Given the description of an element on the screen output the (x, y) to click on. 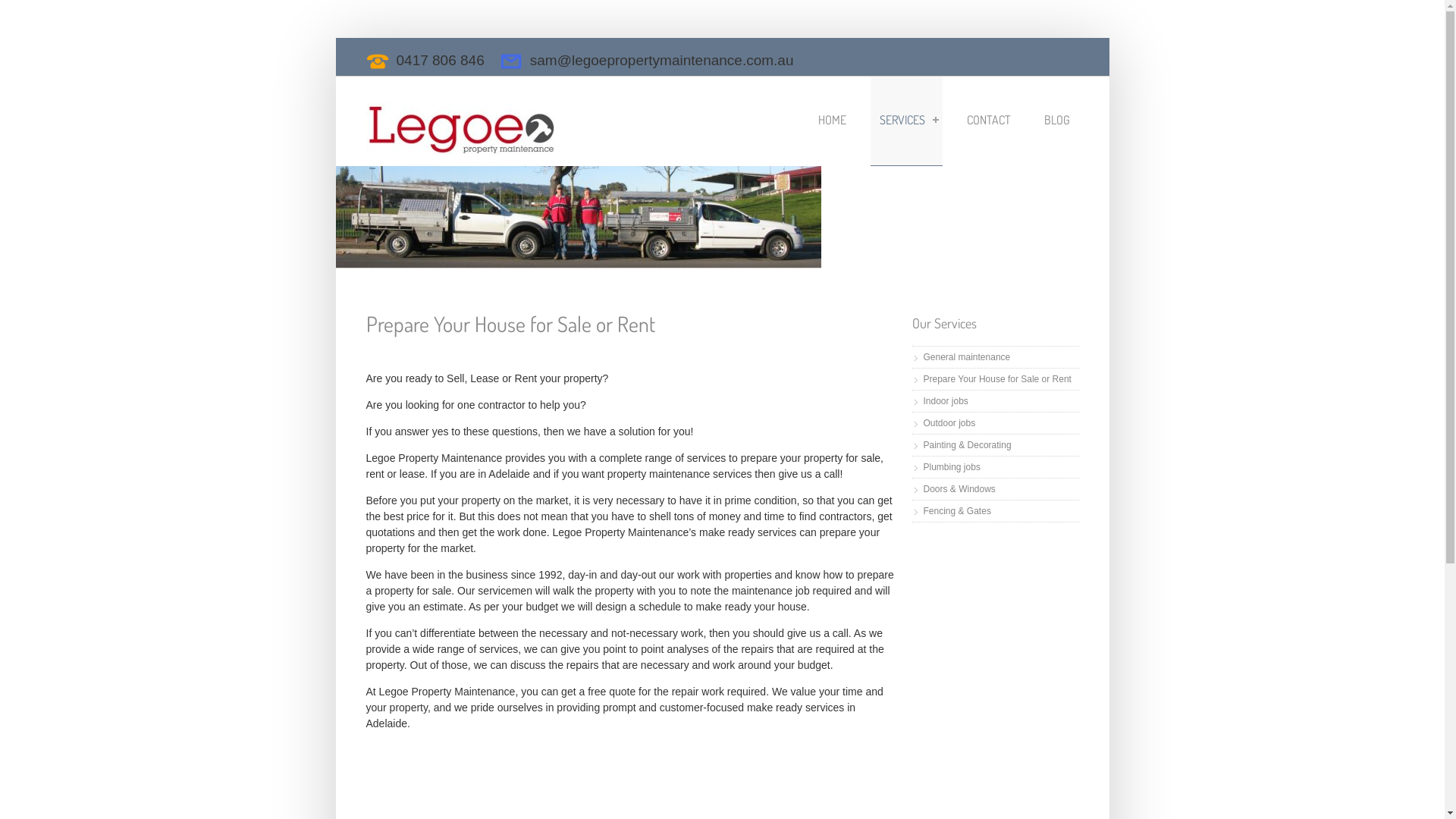
prepare your property for sale Element type: text (810, 457)
Outdoor jobs Element type: text (949, 422)
prepare a property for sale Element type: text (629, 582)
0417 806 846 Element type: text (439, 60)
CONTACT Element type: text (988, 120)
Indoor jobs Element type: text (945, 400)
General maintenance Element type: text (966, 356)
BLOG Element type: text (1056, 120)
HOME Element type: text (831, 120)
SERVICES Element type: text (906, 121)
Plumbing jobs Element type: text (951, 466)
Painting & Decorating Element type: text (967, 444)
Prepare Your House for Sale or Rent Element type: text (997, 378)
sam@legoepropertymaintenance.com.au Element type: text (661, 60)
Doors & Windows Element type: text (959, 488)
Fencing & Gates Element type: text (957, 510)
